Given the description of an element on the screen output the (x, y) to click on. 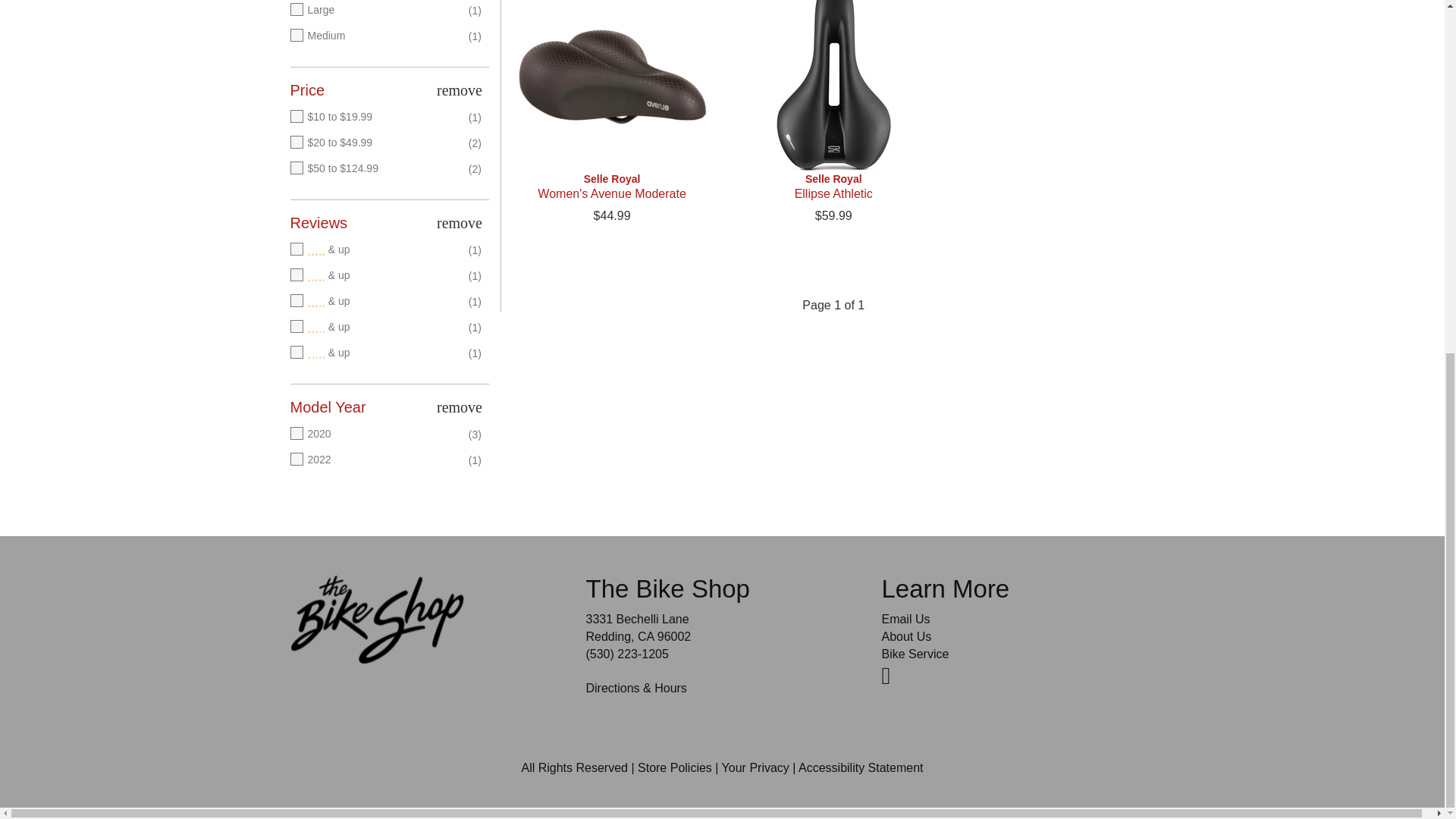
2 (375, 327)
1 (375, 353)
5 (375, 249)
3 (375, 301)
4 (375, 275)
